Given the description of an element on the screen output the (x, y) to click on. 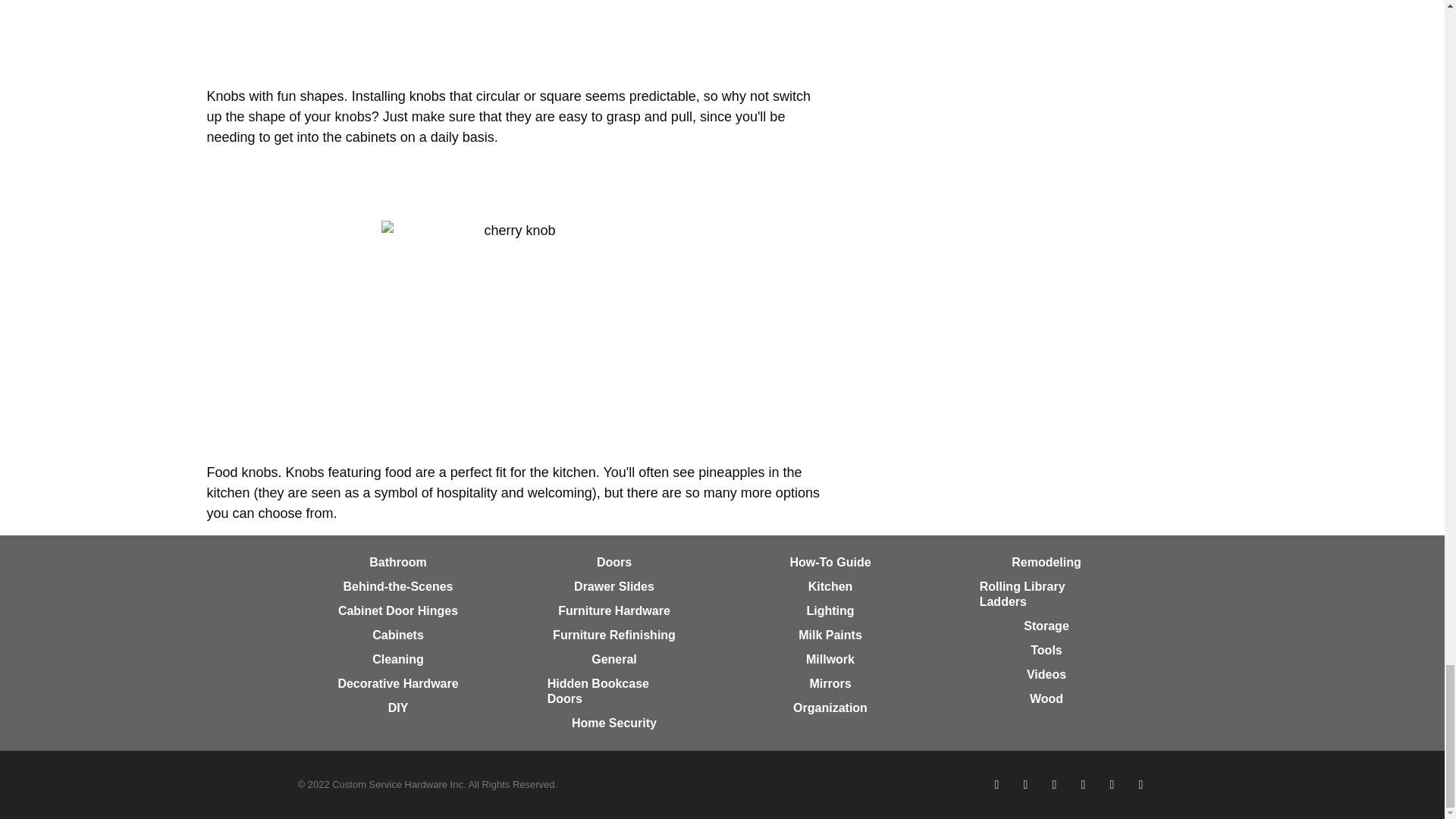
cherry knob (513, 336)
fun cabinet knobs (513, 38)
